Given the description of an element on the screen output the (x, y) to click on. 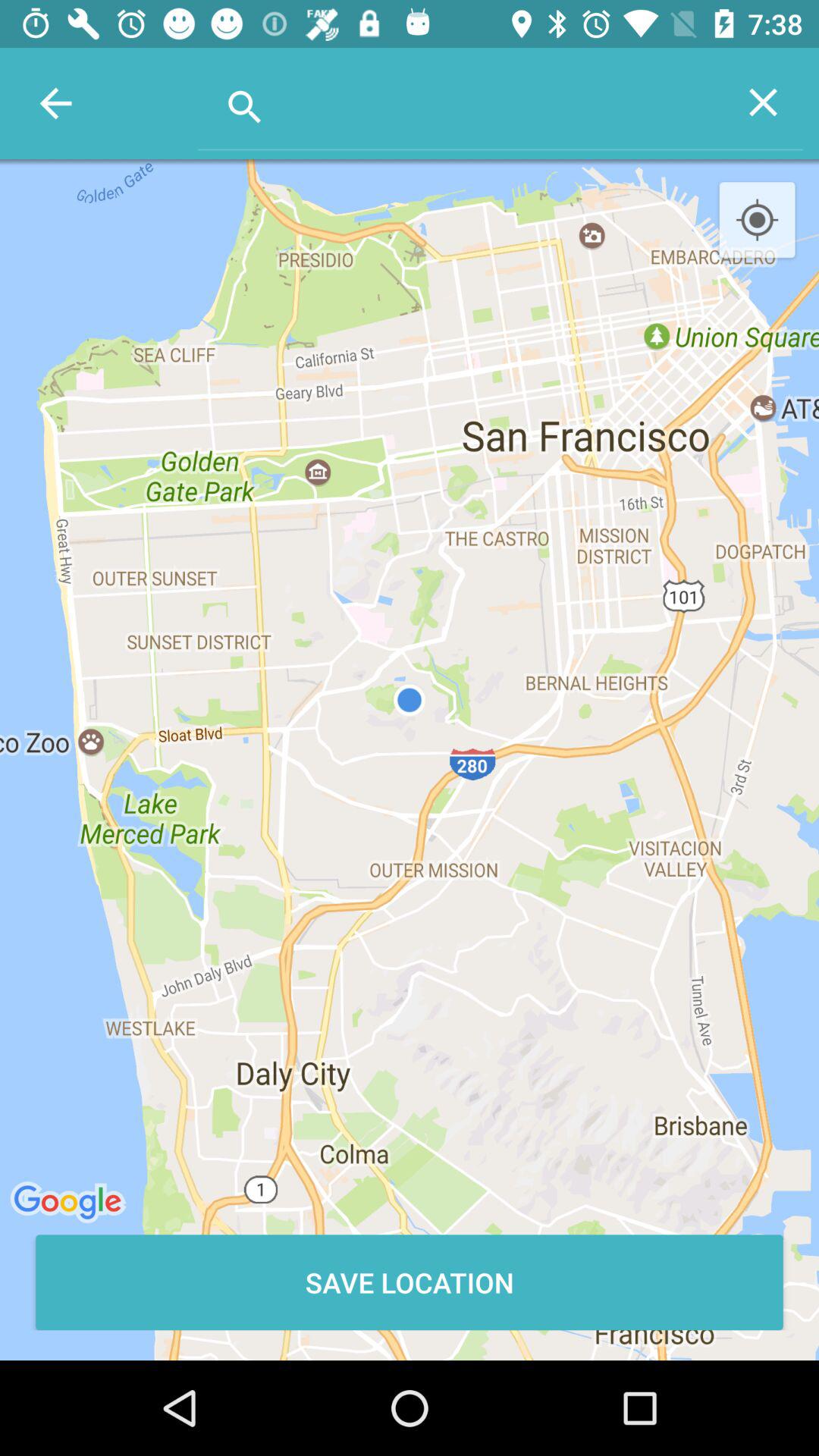
choose item above save location item (757, 220)
